Given the description of an element on the screen output the (x, y) to click on. 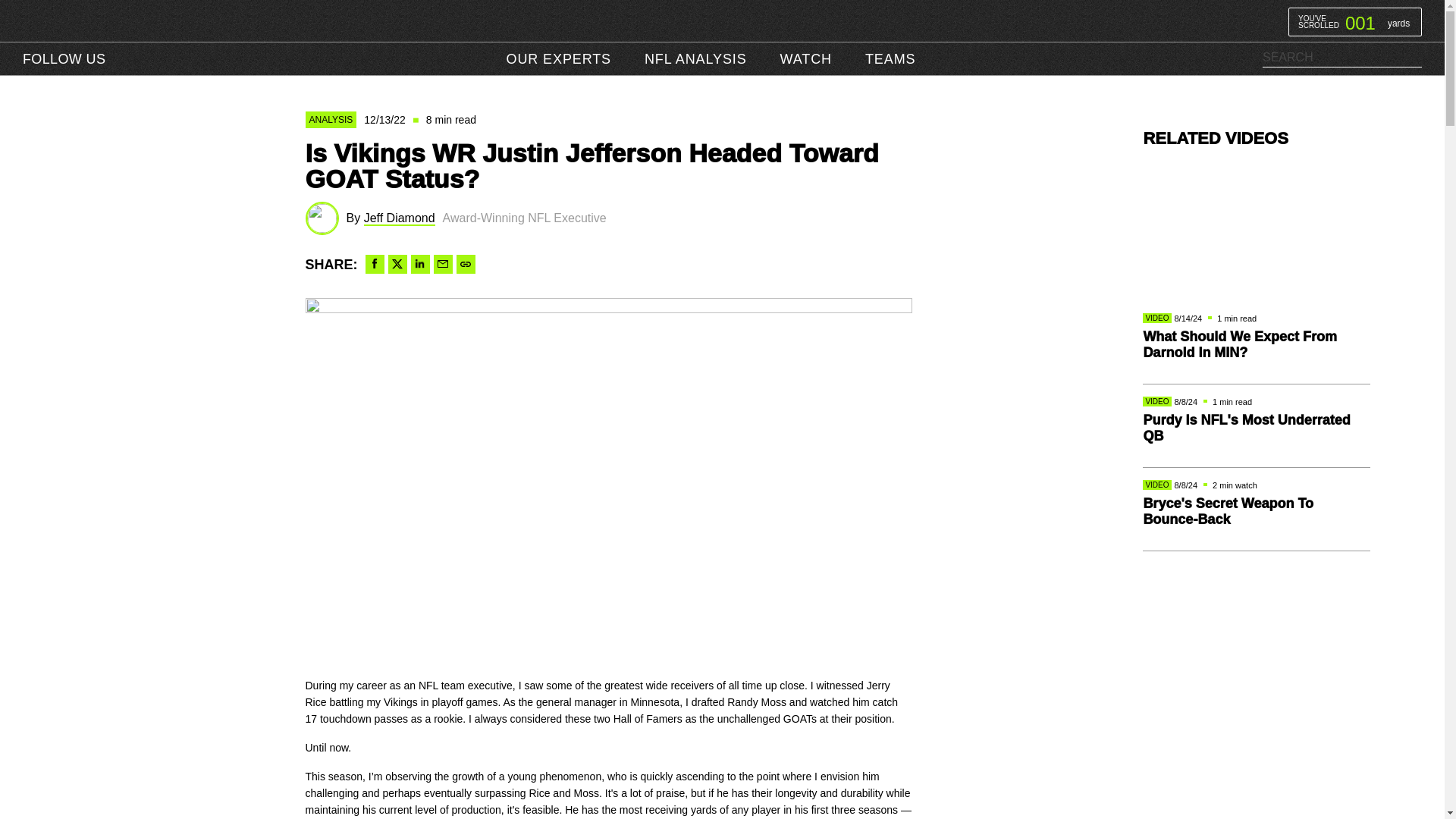
YOU'VE SCROLLED (1355, 21)
The 33rd Team (1354, 22)
OUR EXPERTS (1318, 21)
001 (722, 20)
yards (558, 58)
